Given the description of an element on the screen output the (x, y) to click on. 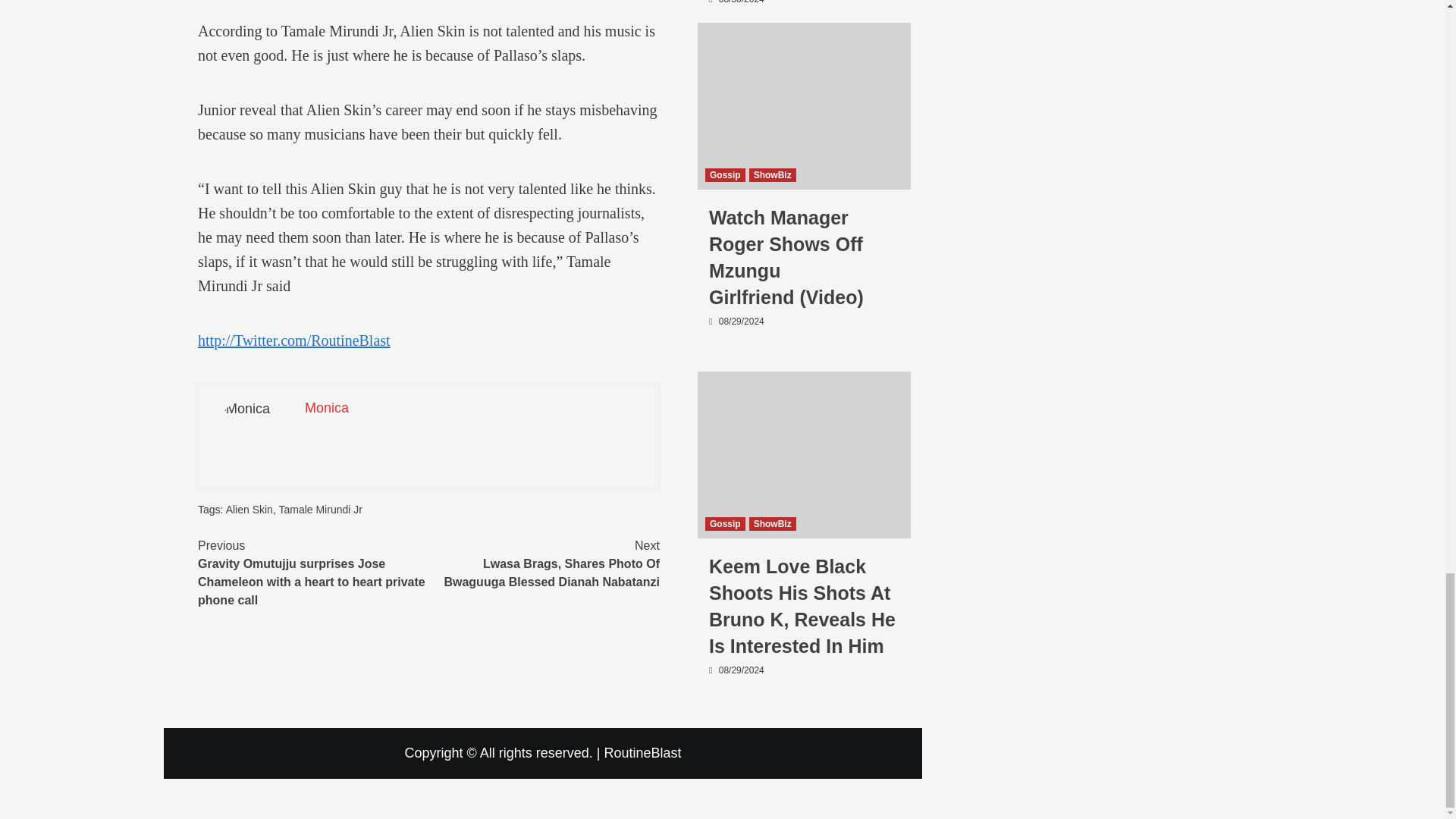
Alien Skin (249, 509)
Monica (326, 407)
Tamale Mirundi Jr (319, 509)
